Given the description of an element on the screen output the (x, y) to click on. 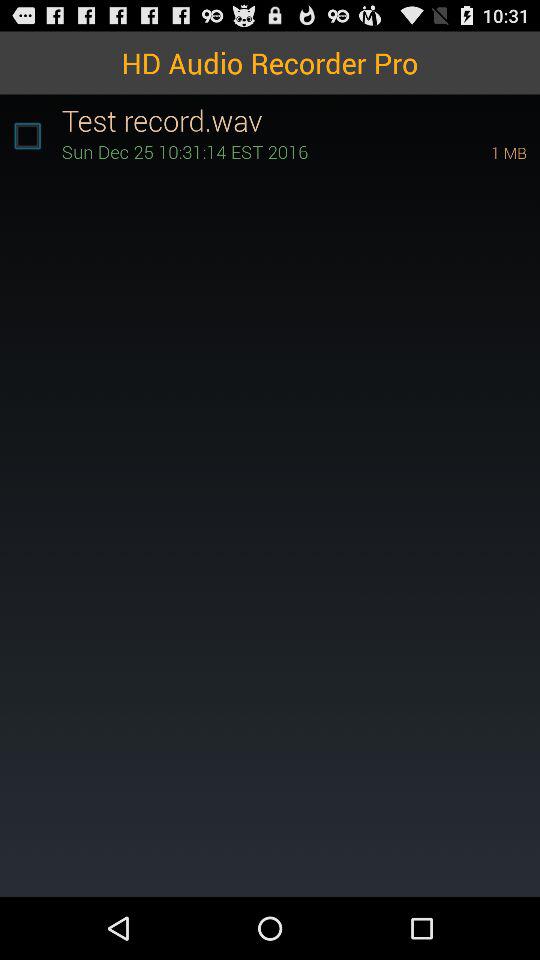
turn off the icon at the top left corner (27, 136)
